Given the description of an element on the screen output the (x, y) to click on. 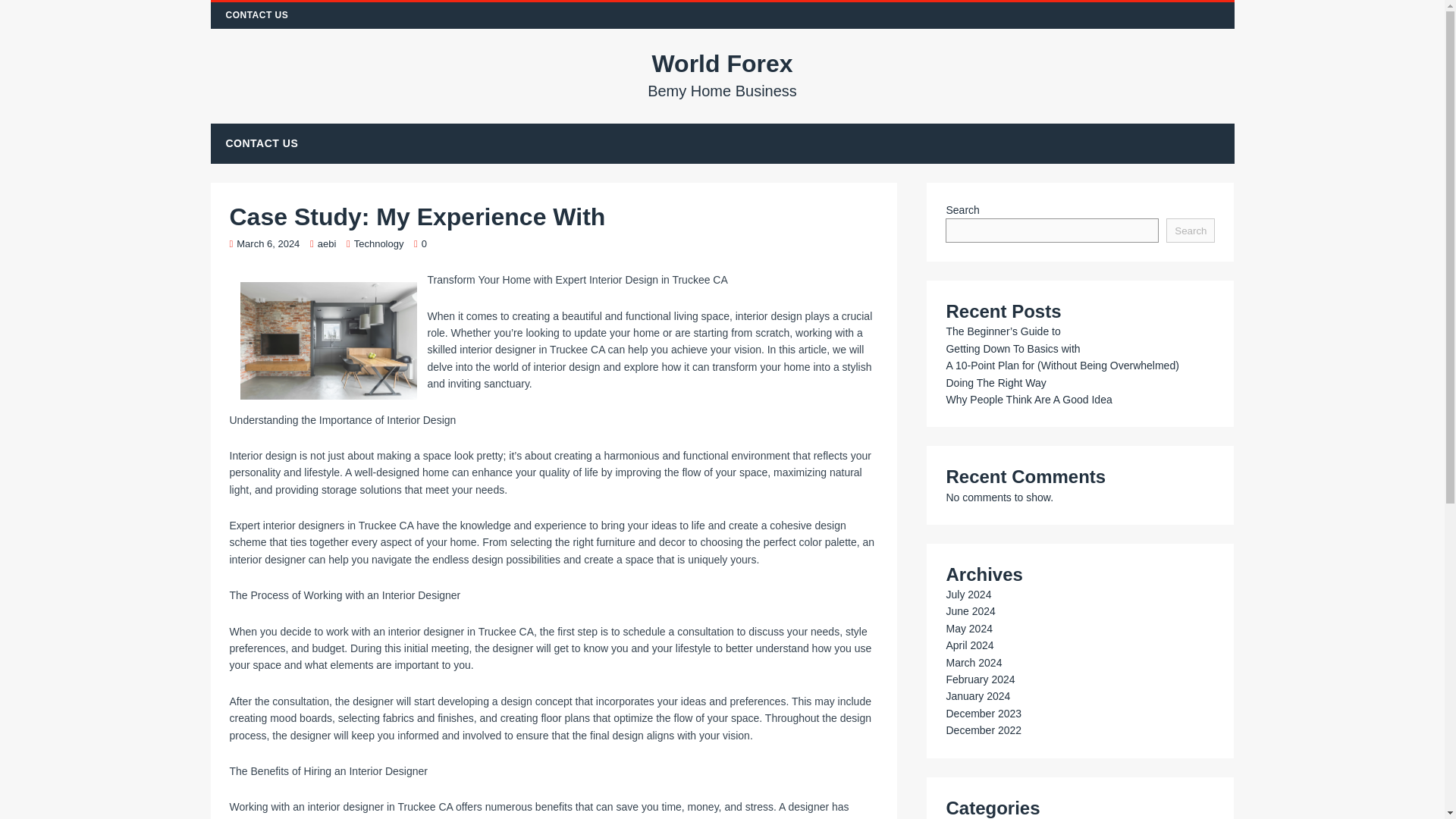
Getting Down To Basics with (1012, 348)
0 (722, 74)
aebi (424, 243)
April 2024 (326, 243)
December 2022 (968, 645)
March 2024 (983, 729)
CONTACT US (972, 662)
0 (257, 15)
March 6, 2024 (424, 243)
World Forex (267, 243)
May 2024 (722, 74)
CONTACT US (967, 628)
December 2023 (262, 142)
Why People Think Are A Good Idea (983, 713)
